Given the description of an element on the screen output the (x, y) to click on. 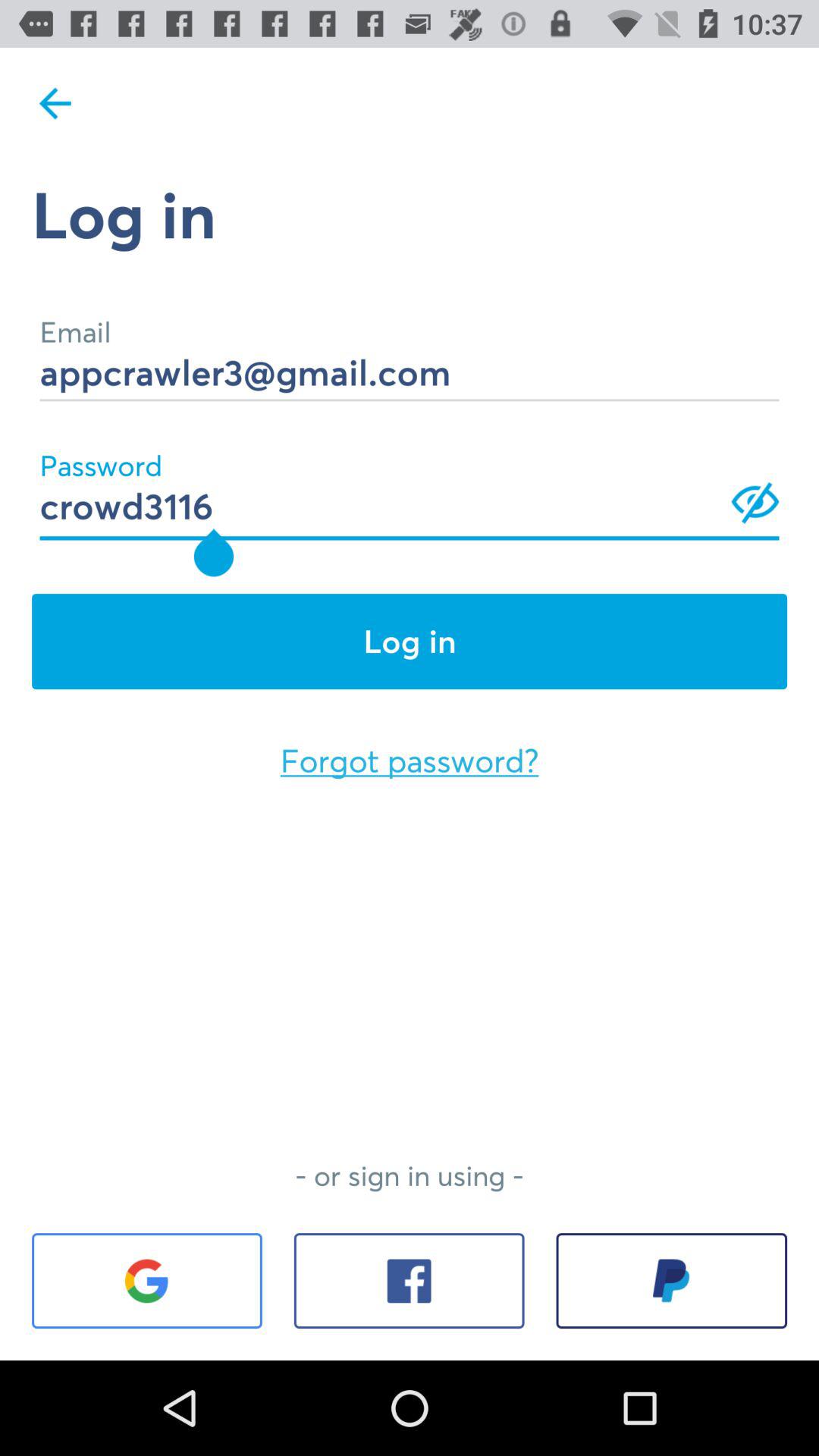
tap the icon at the top left corner (55, 103)
